Given the description of an element on the screen output the (x, y) to click on. 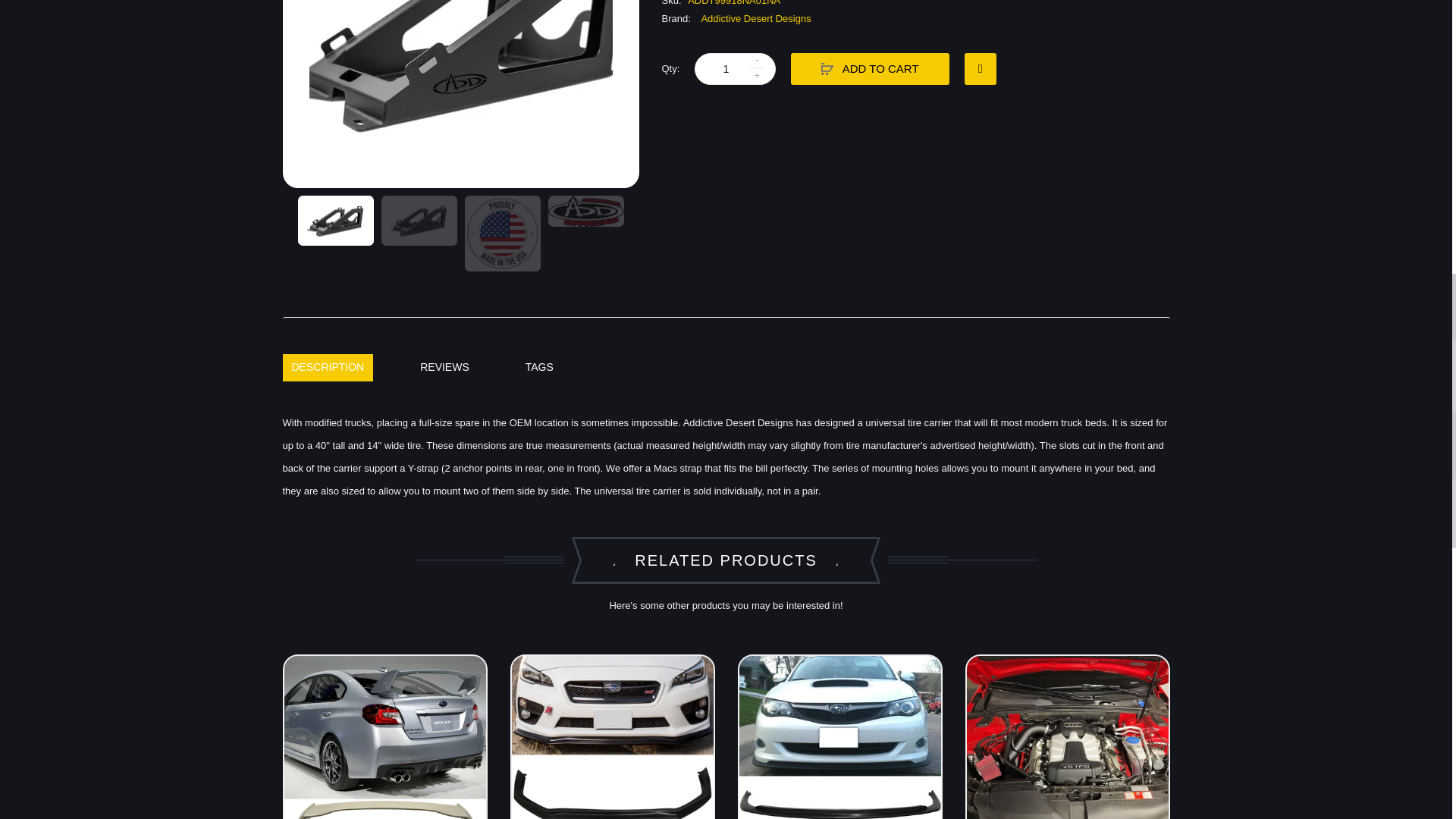
Addictive Desert Designs Universal Tire Carrier (334, 220)
Addictive Desert Designs Universal Tire Carrier (585, 211)
Addictive Desert Designs Universal Tire Carrier (502, 233)
- (756, 60)
1 (725, 69)
Addictive Desert Designs Universal Tire Carrier (418, 220)
Addictive Desert Designs Universal Tire Carrier (460, 94)
